Given the description of an element on the screen output the (x, y) to click on. 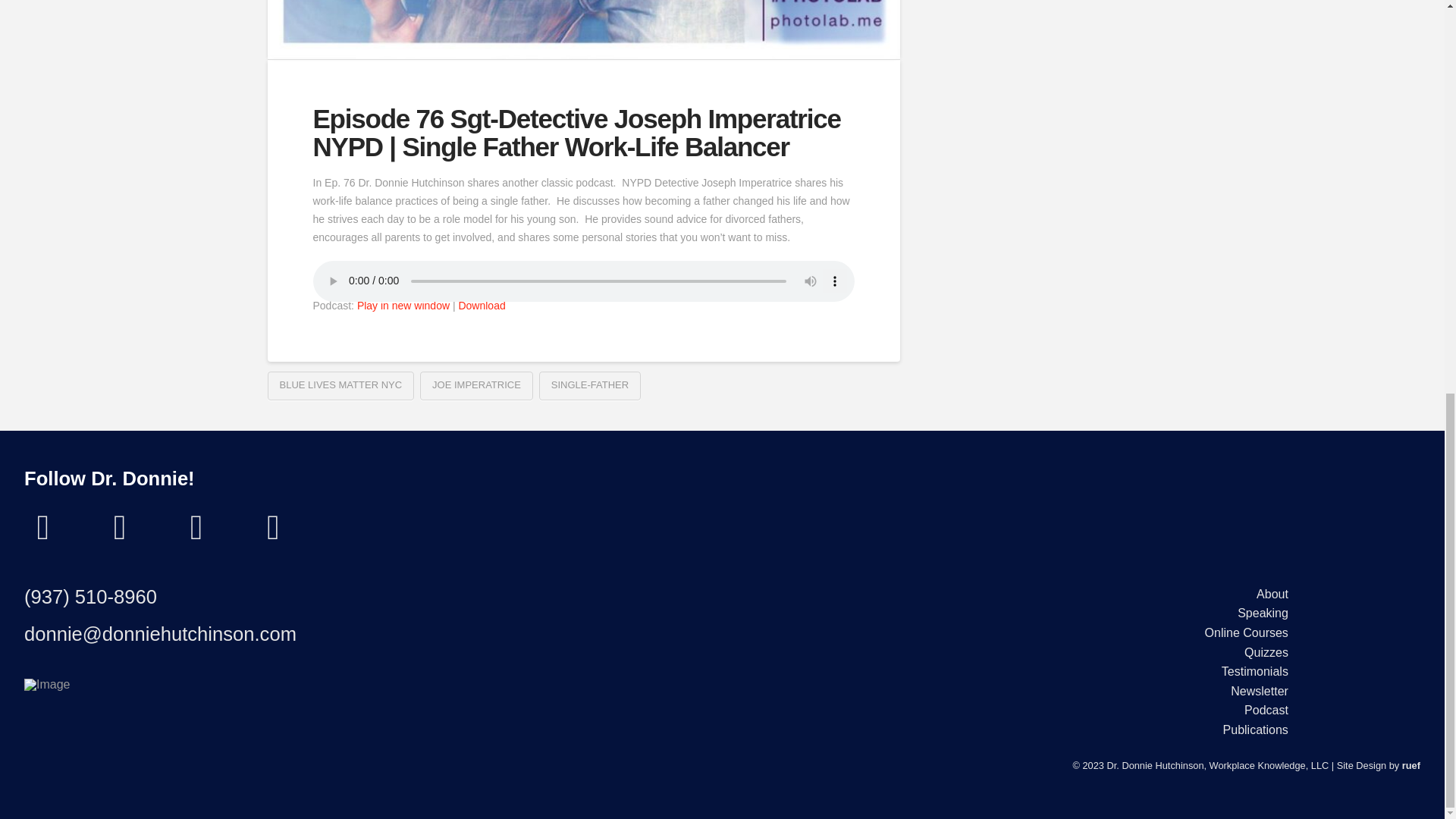
Testimonials (1254, 671)
Speaking (1262, 614)
Online Courses (1246, 632)
Play in new window (402, 305)
About (1272, 594)
Newsletter (1259, 691)
Publications (1255, 730)
BLUE LIVES MATTER NYC (339, 385)
Download (481, 305)
JOE IMPERATRICE (476, 385)
